Given the description of an element on the screen output the (x, y) to click on. 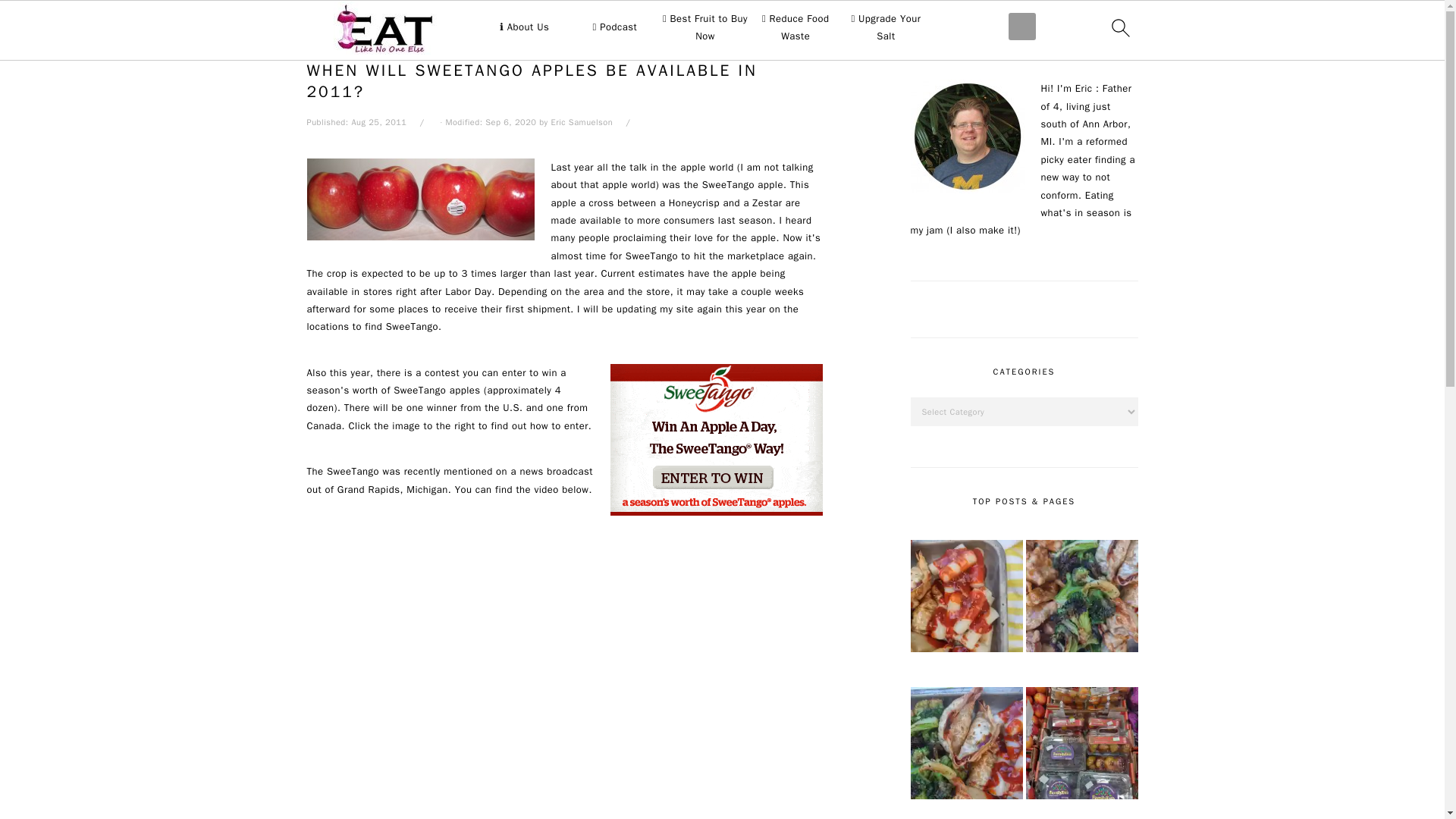
How to Air Fry Stir-Fried Rice Cakes from Trader Joe's (966, 598)
search icon (1119, 27)
SweeTango Apples 2 (419, 199)
How to Air Fry Trader Joe's Gyoza Potstickers (966, 745)
How to Air Fry Trader Joe's Frozen Broccoli (1081, 598)
